Given the description of an element on the screen output the (x, y) to click on. 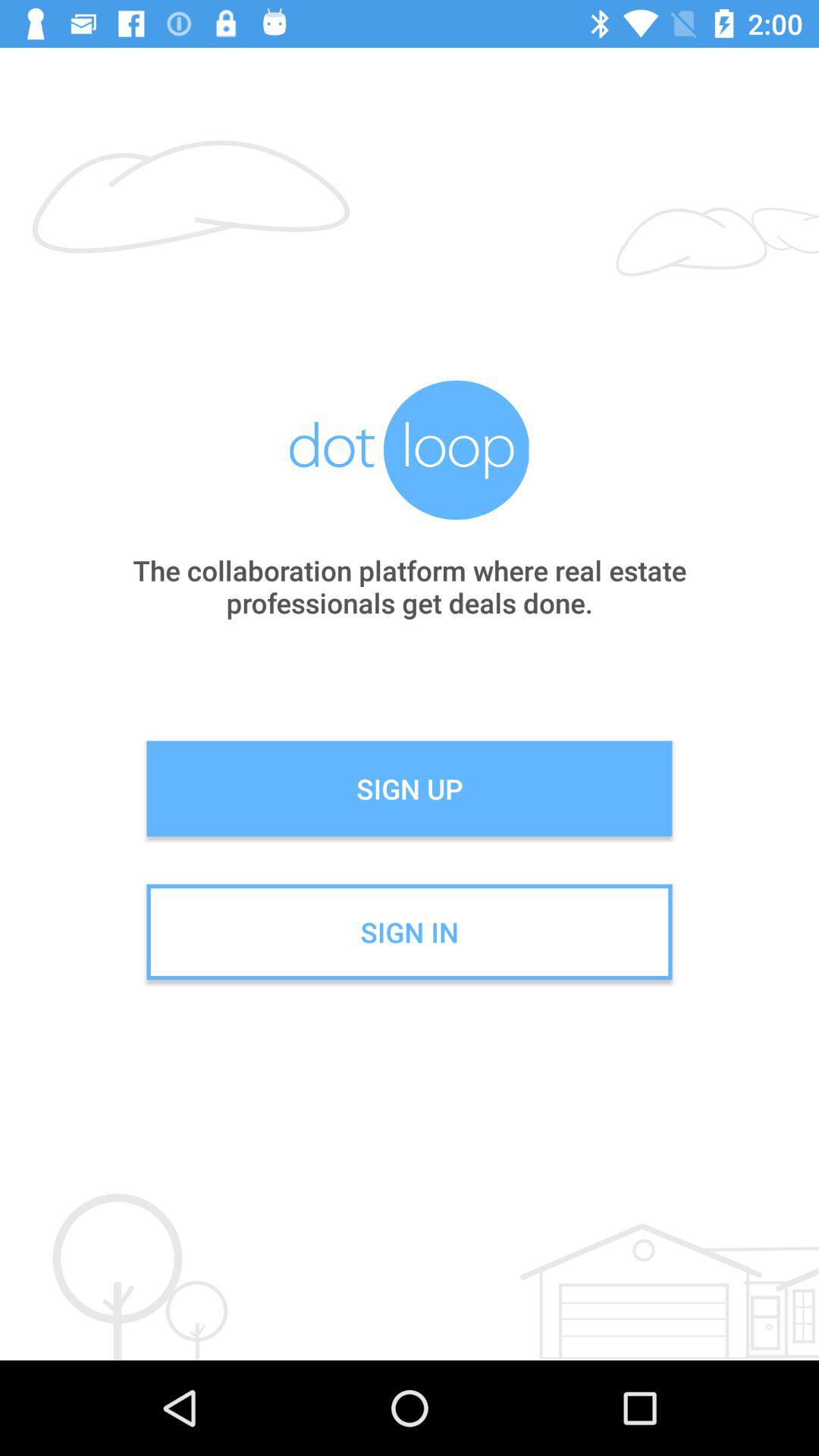
launch item below the collaboration platform (409, 788)
